Given the description of an element on the screen output the (x, y) to click on. 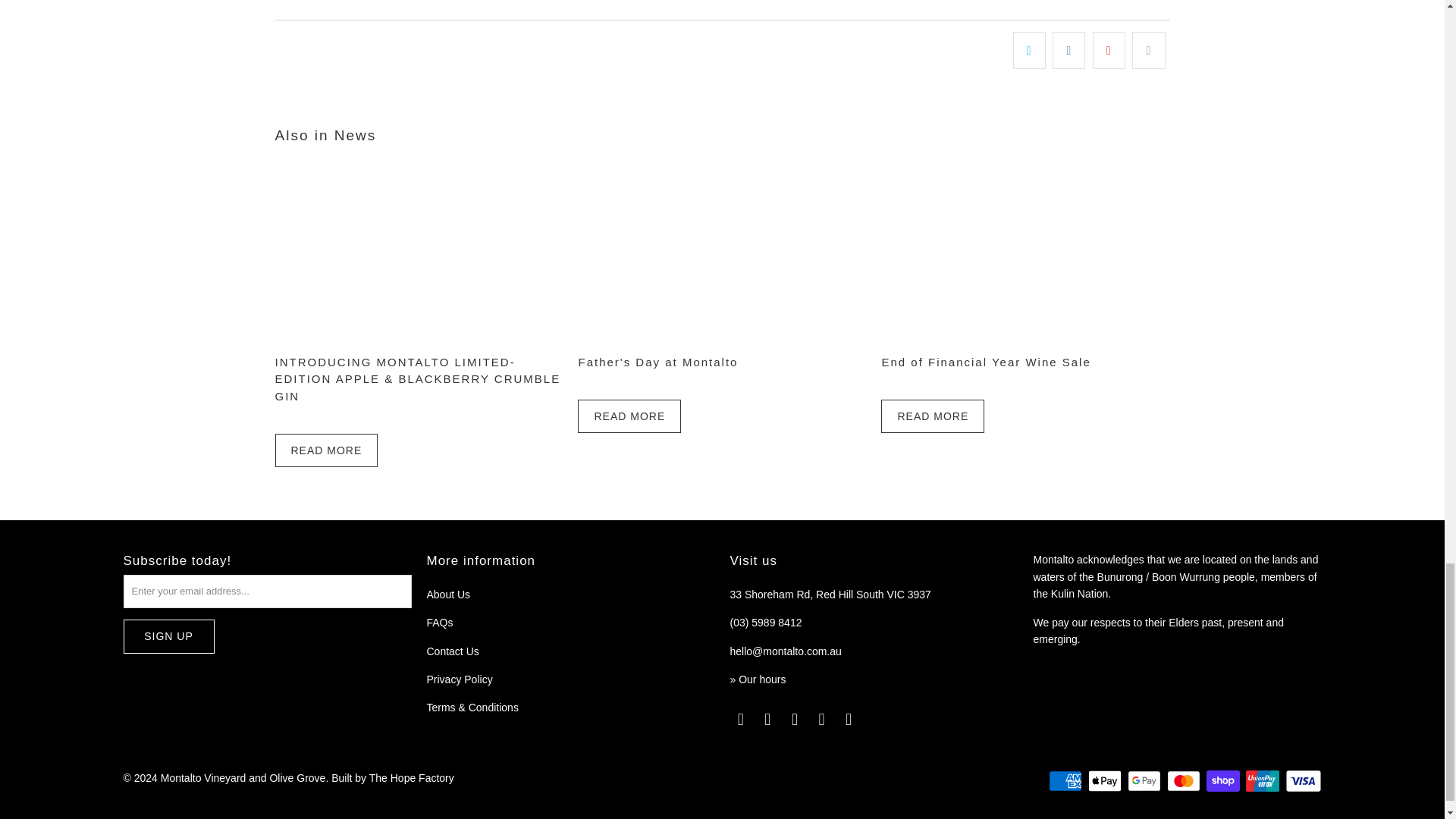
Share this on Pinterest (1109, 49)
Email this to a friend (1148, 49)
Share this on Facebook (1068, 49)
Google Pay (1144, 780)
Share this on Twitter (1029, 49)
Union Pay (1264, 780)
Mastercard (1185, 780)
Shop Pay (1225, 780)
Apple Pay (1105, 780)
Sign Up (168, 636)
American Express (1066, 780)
Visa (1302, 780)
